Given the description of an element on the screen output the (x, y) to click on. 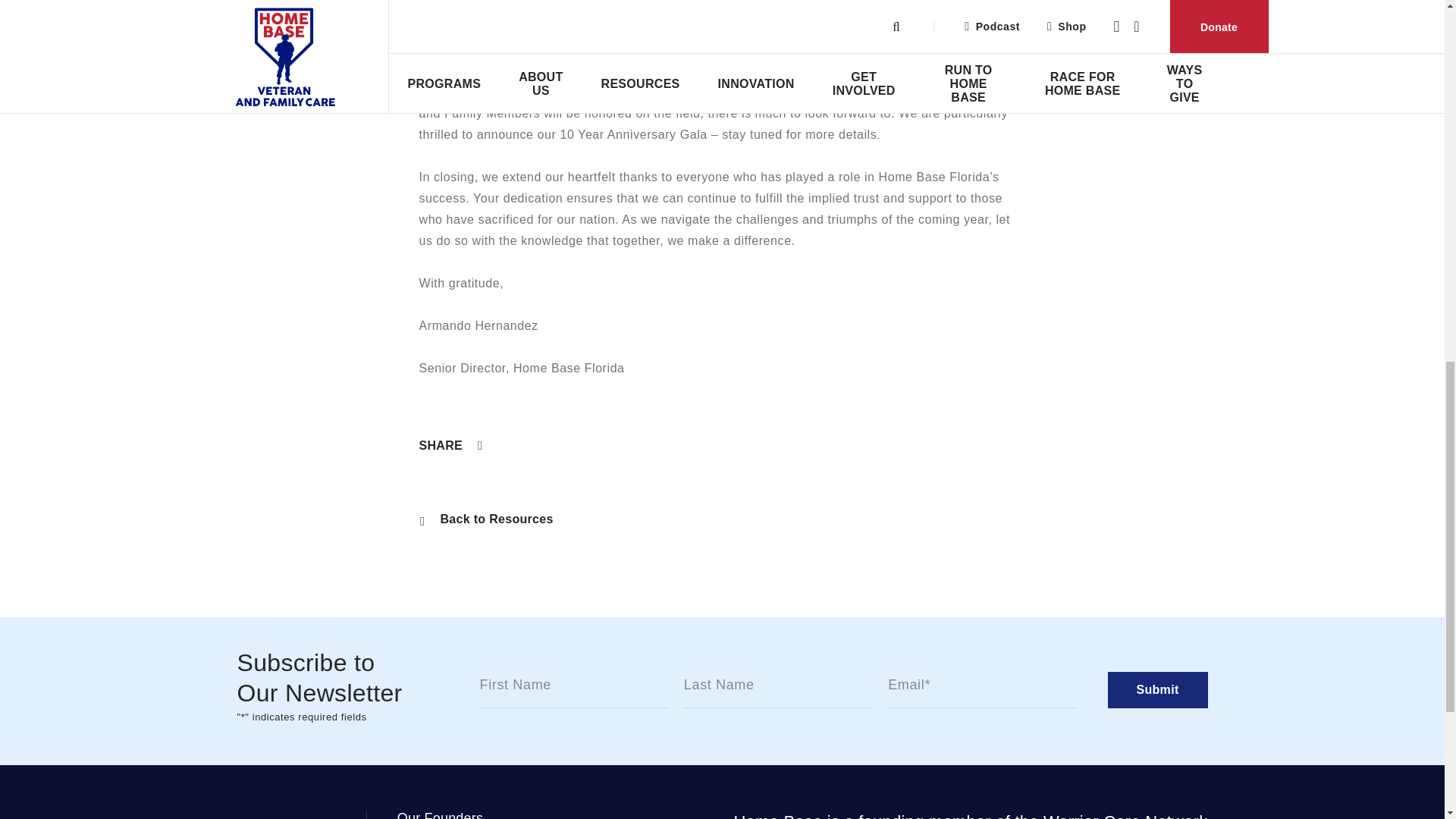
Submit (1156, 689)
Share this page (450, 445)
